Given the description of an element on the screen output the (x, y) to click on. 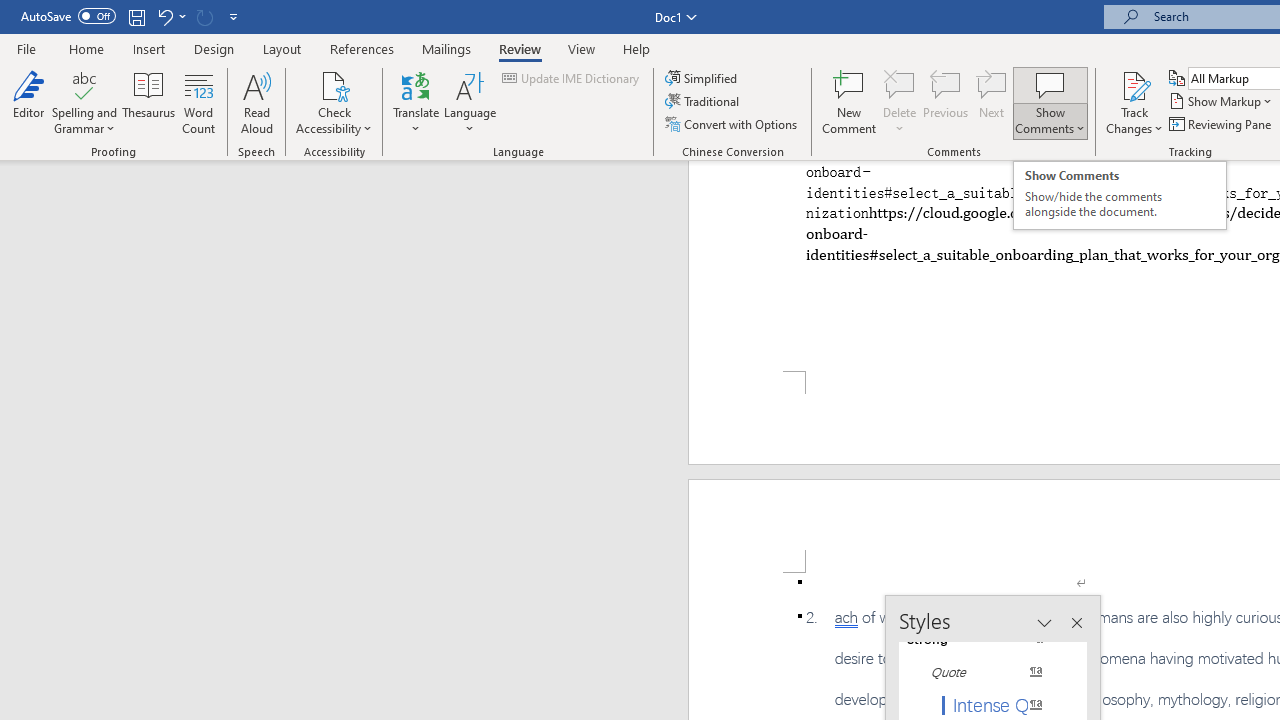
Show Comments (1050, 84)
Show Comments (1050, 102)
Delete (900, 102)
Check Accessibility (334, 102)
Quote (984, 672)
New Comment (849, 102)
Next (991, 102)
